Given the description of an element on the screen output the (x, y) to click on. 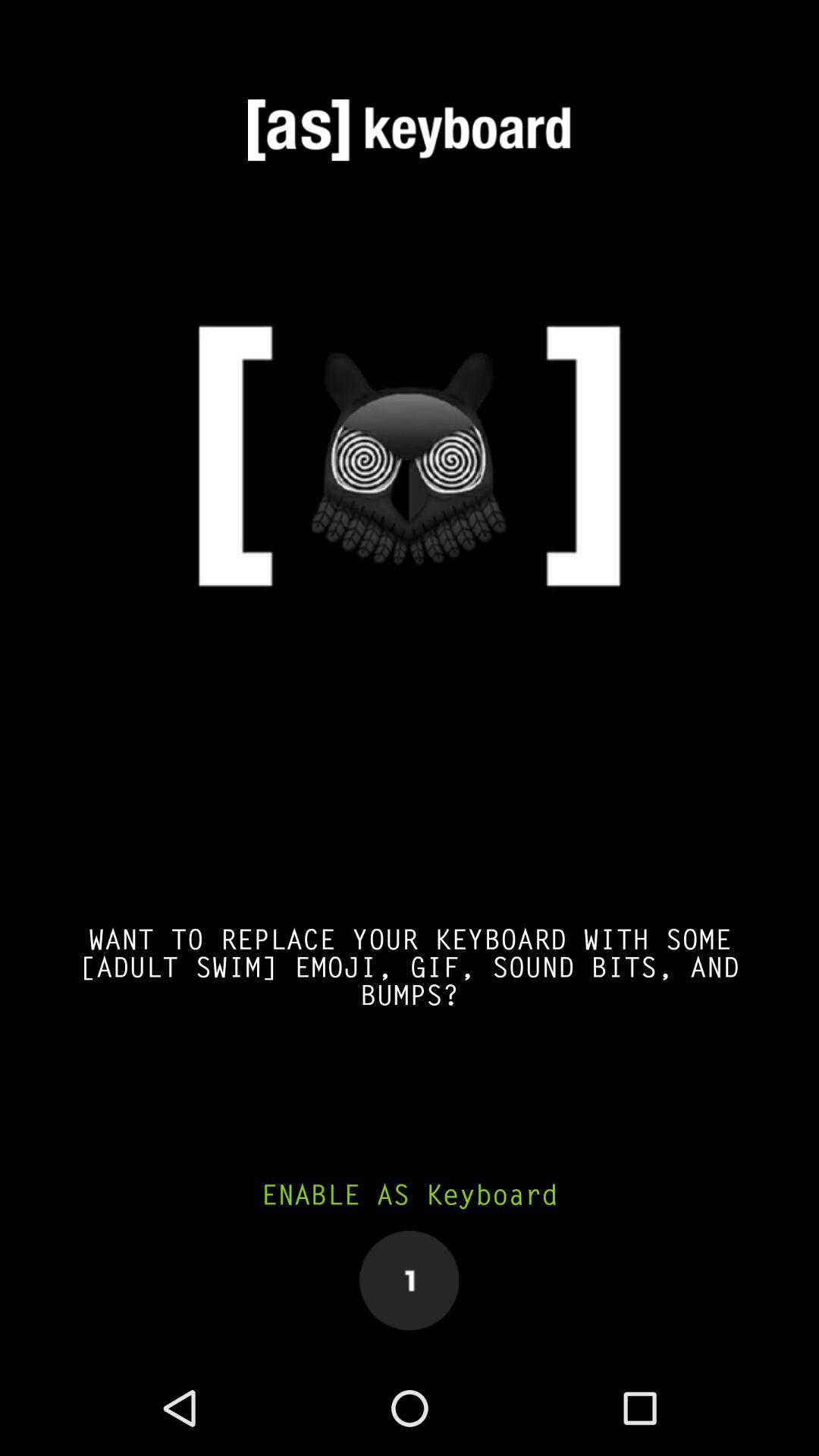
turn on item below the want to replace icon (409, 1194)
